Given the description of an element on the screen output the (x, y) to click on. 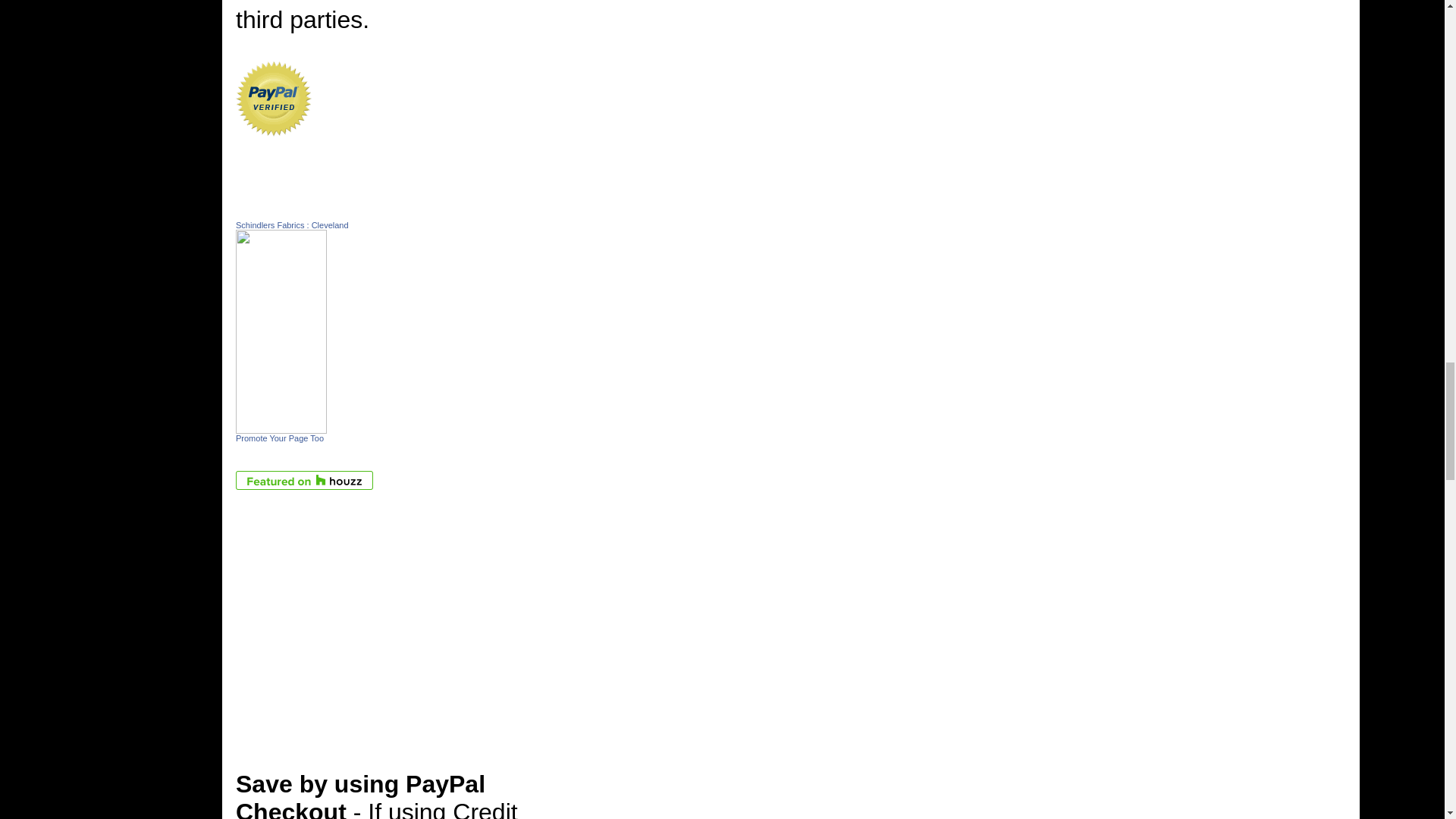
Schindlers Fabrics : Cleveland (292, 225)
Schindlers Fabrics : Cleveland (292, 225)
Schindlers Fabrics : Cleveland (280, 424)
Promote Your Page Too (279, 438)
Make your own badge! (279, 438)
